Given the description of an element on the screen output the (x, y) to click on. 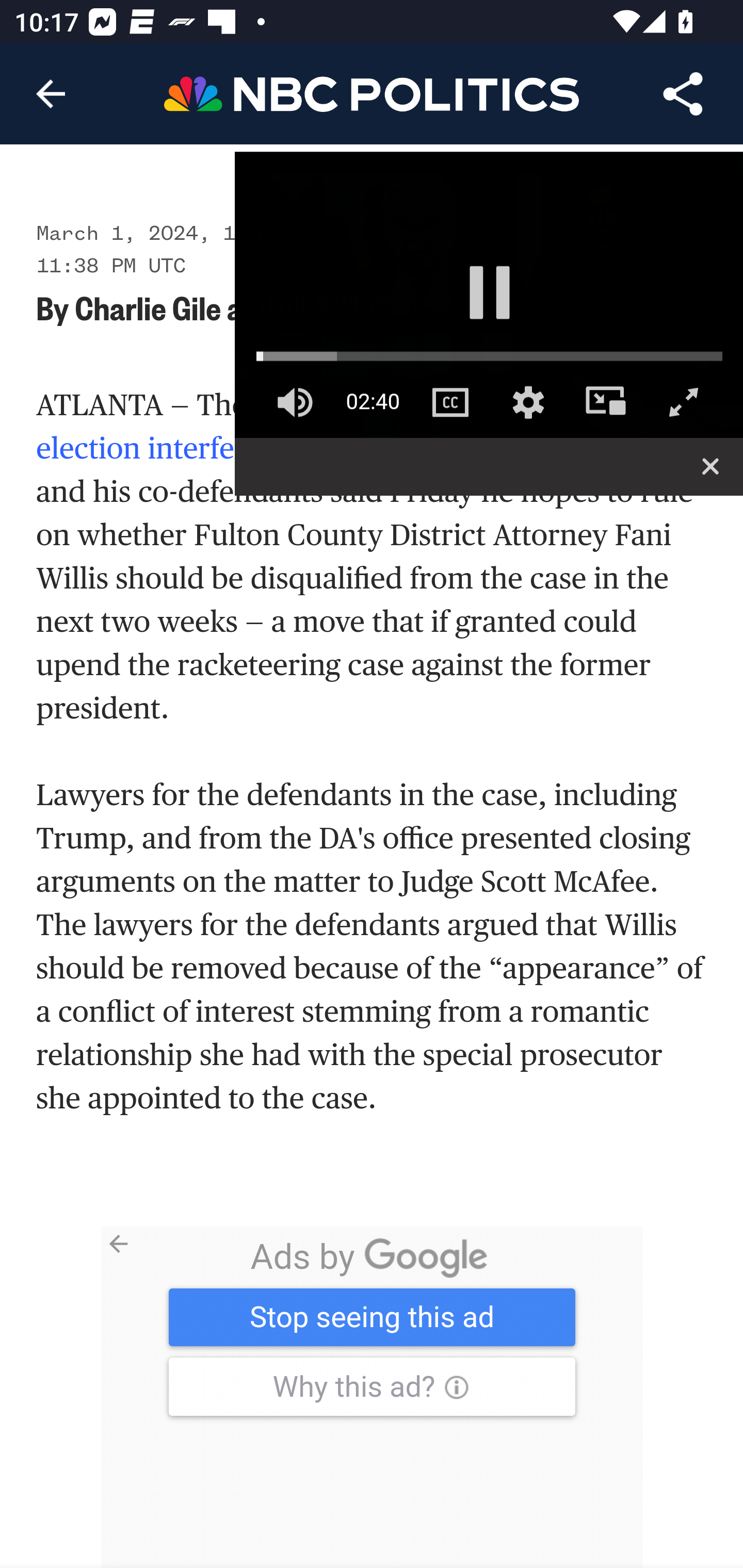
Navigate up (50, 93)
Share Article, button (683, 94)
Header, NBC Politics (371, 93)
